Given the description of an element on the screen output the (x, y) to click on. 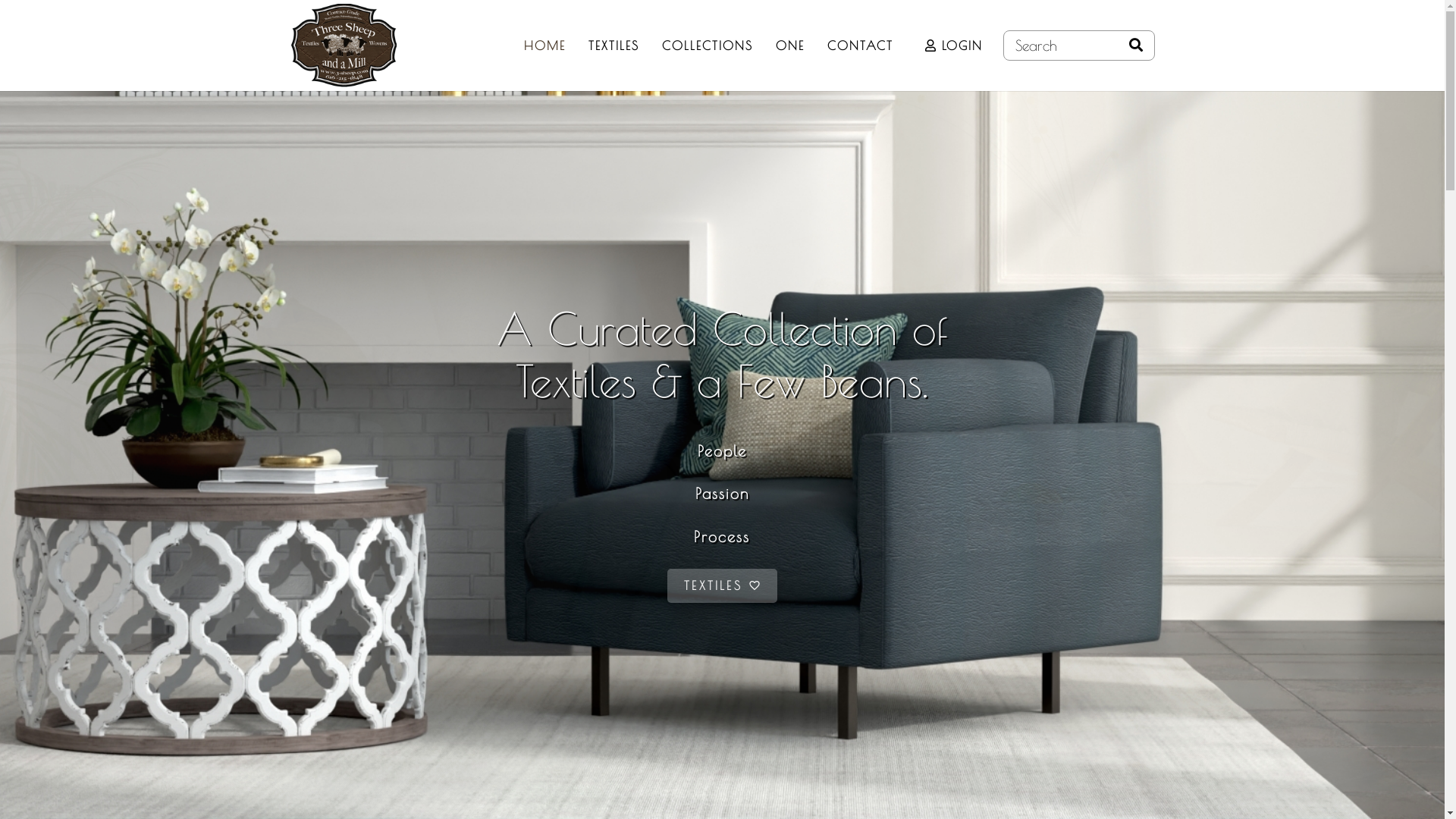
TEXTILES Element type: text (613, 45)
HOME Element type: text (544, 45)
TEXTILESfavorite_border Element type: text (722, 585)
LOGIN Element type: text (953, 45)
COLLECTIONS Element type: text (707, 45)
CONTACT Element type: text (859, 45)
ONE Element type: text (789, 45)
